Given the description of an element on the screen output the (x, y) to click on. 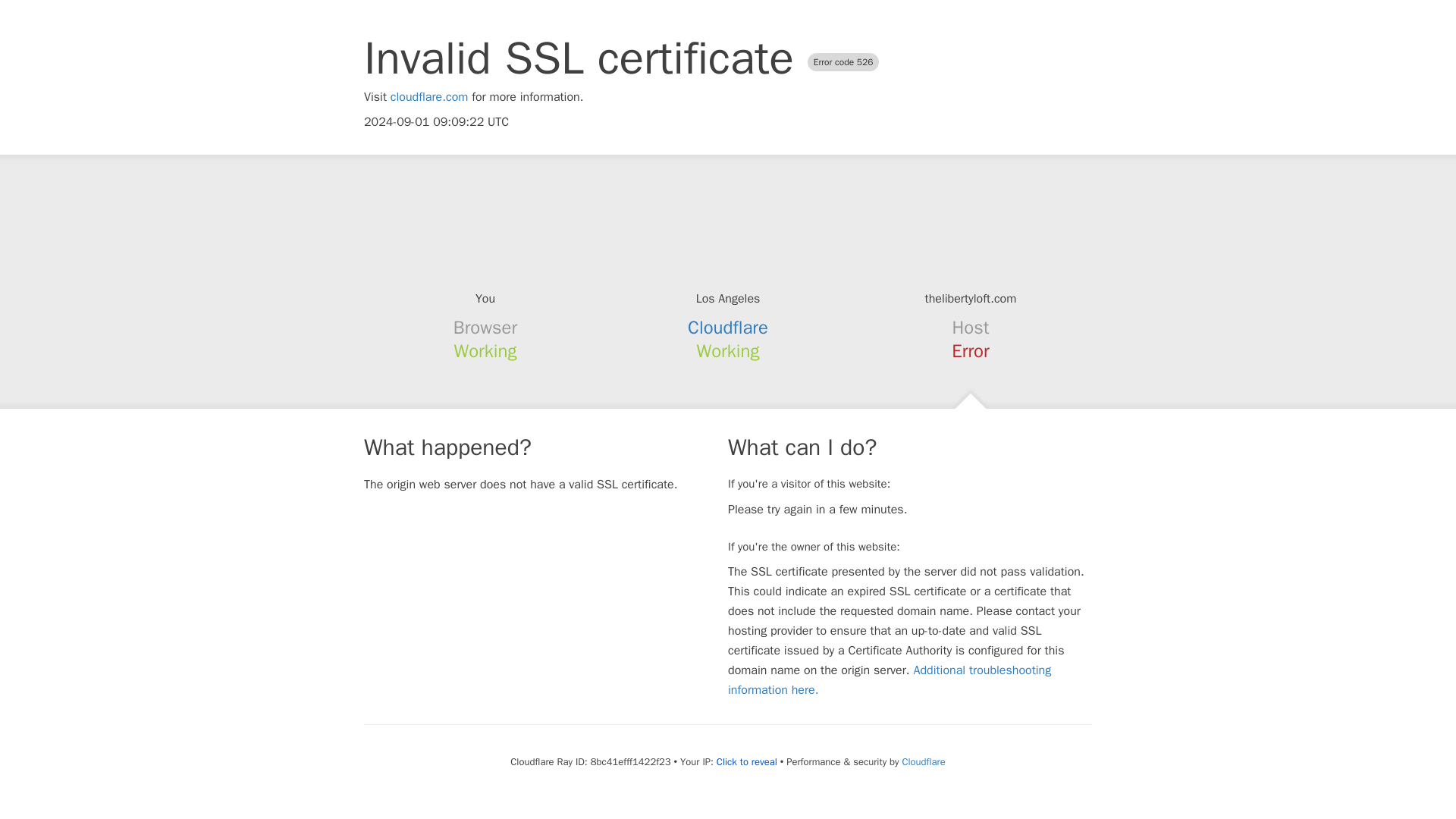
Click to reveal (746, 762)
cloudflare.com (429, 96)
Cloudflare (922, 761)
Cloudflare (727, 327)
Additional troubleshooting information here. (889, 679)
